Given the description of an element on the screen output the (x, y) to click on. 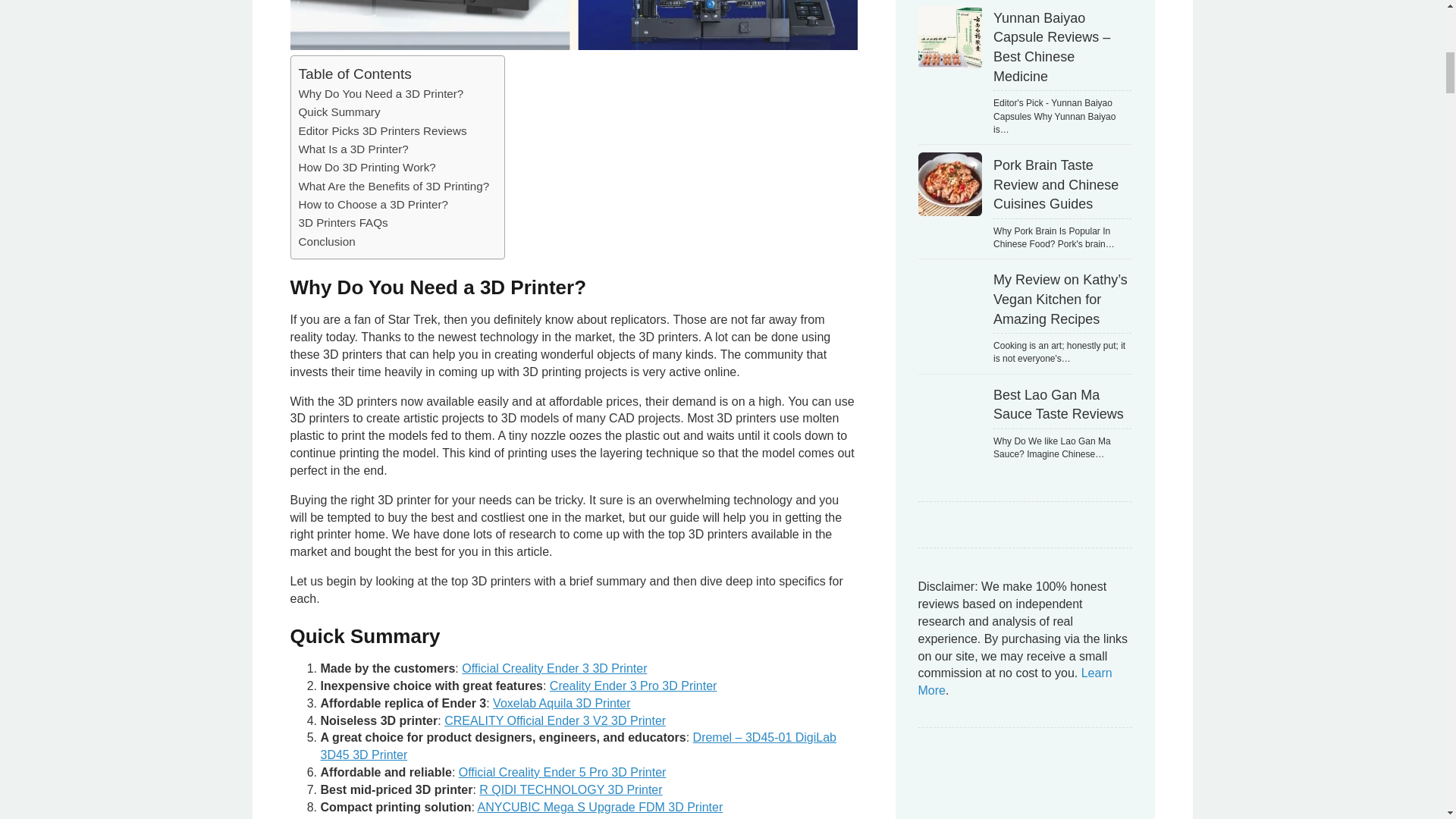
How Do 3D Printing Work? (366, 167)
Why Do You Need a 3D Printer? (381, 94)
3D Printers FAQs (343, 222)
Why Do You Need a 3D Printer? (381, 94)
What Are the Benefits of 3D Printing? (393, 186)
Quick Summary (339, 112)
Conclusion (326, 241)
